Given the description of an element on the screen output the (x, y) to click on. 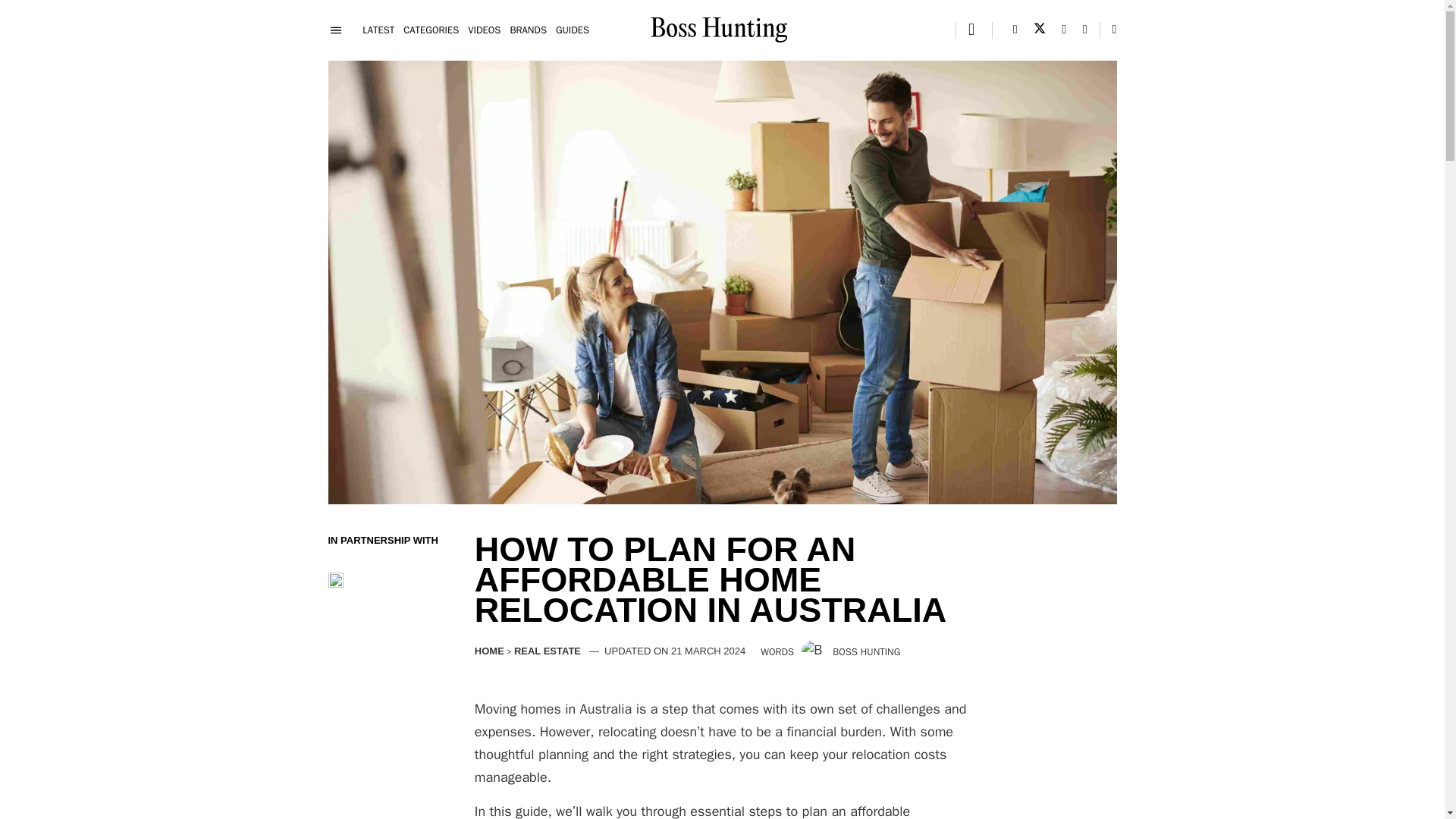
LATEST (378, 30)
CATEGORIES (430, 30)
